Given the description of an element on the screen output the (x, y) to click on. 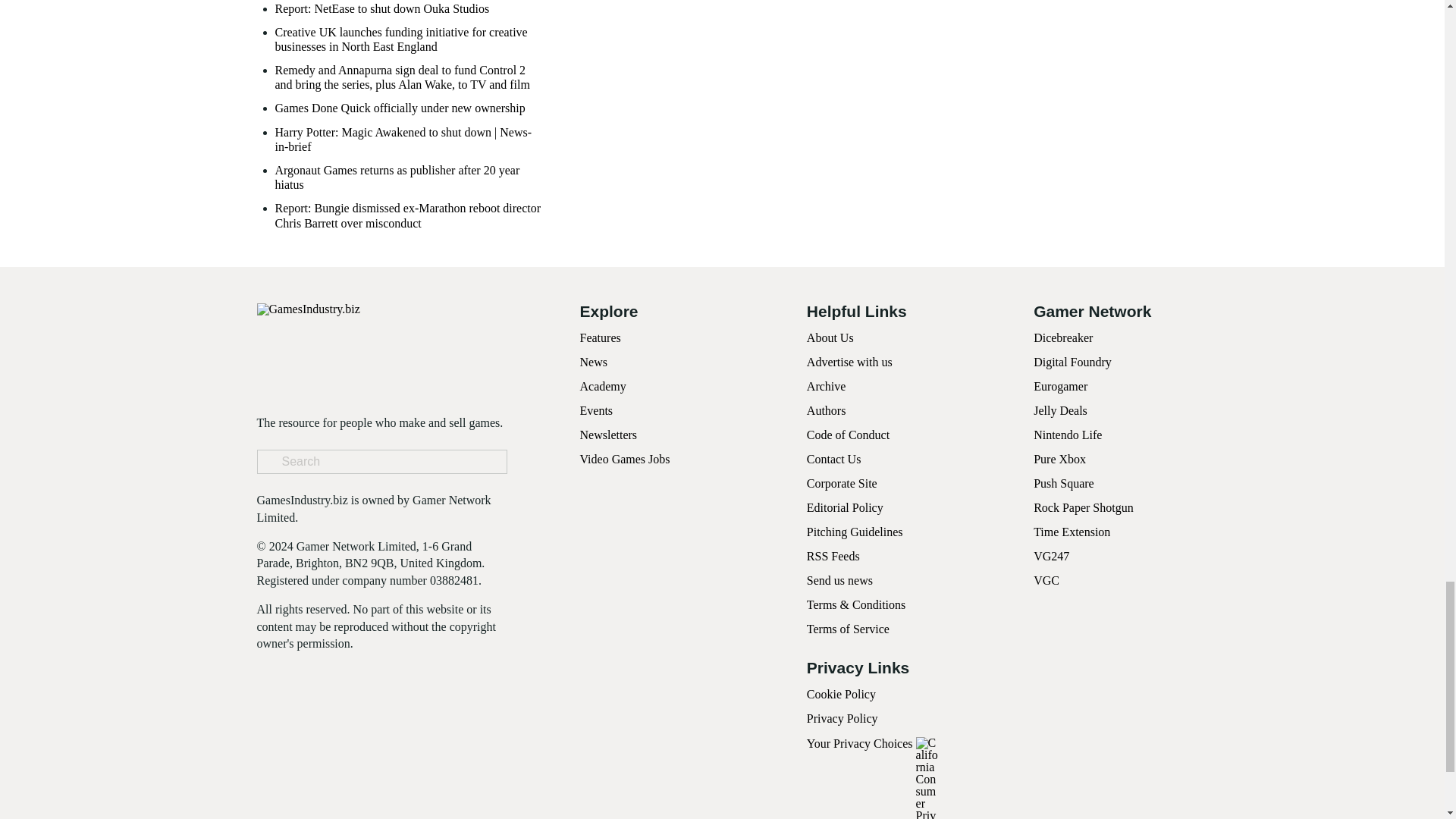
Video Games Jobs (624, 459)
Events (595, 410)
Academy (602, 386)
Report: NetEase to shut down Ouka Studios (382, 8)
Newsletters (608, 434)
Games Done Quick officially under new ownership (399, 107)
News (593, 361)
About Us (829, 337)
Argonaut Games returns as publisher after 20 year hiatus (409, 176)
